Given the description of an element on the screen output the (x, y) to click on. 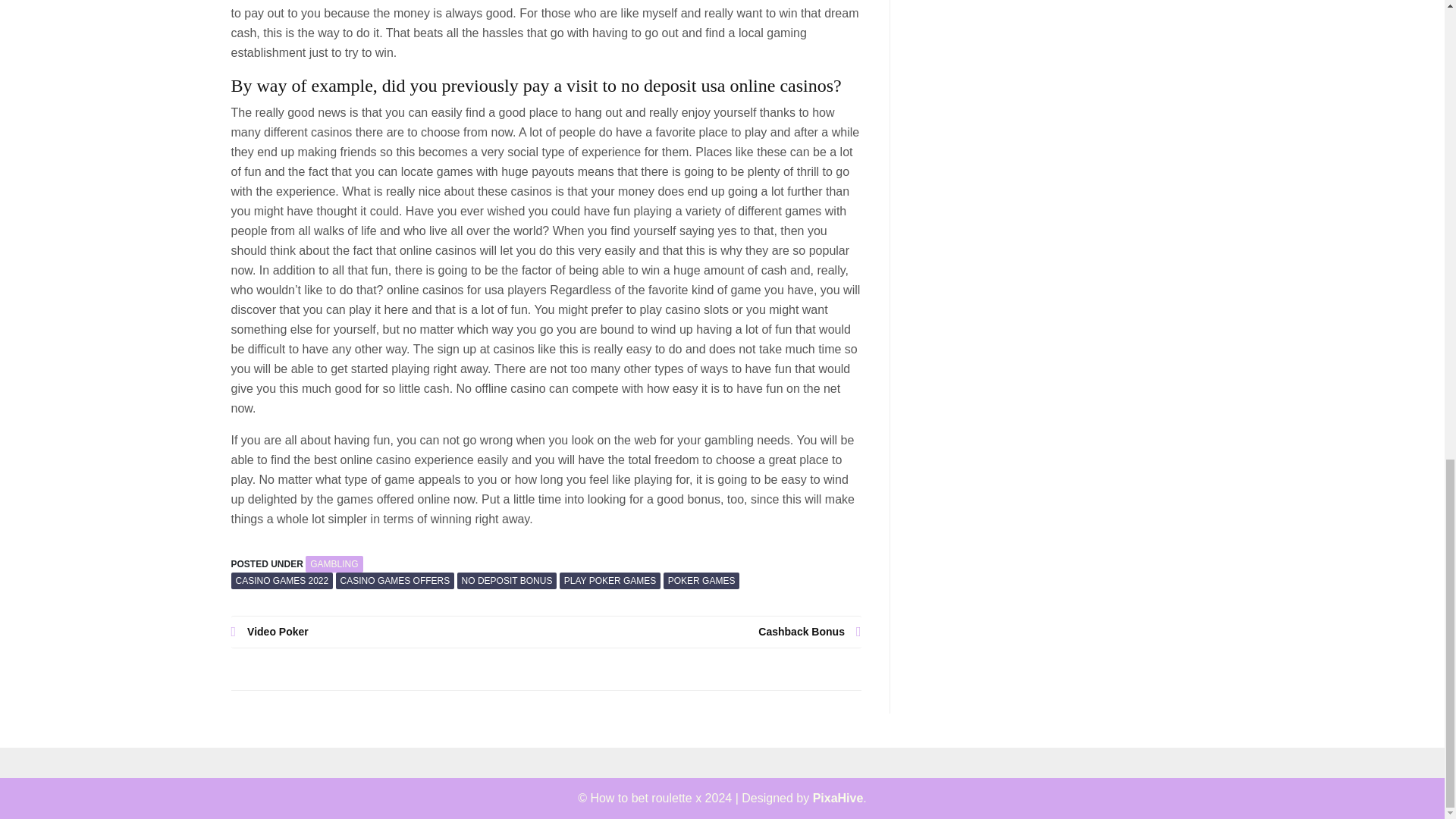
CASINO GAMES OFFERS (395, 580)
GAMBLING (333, 564)
Video Poker (388, 631)
POKER GAMES (701, 580)
PLAY POKER GAMES (610, 580)
Cashback Bonus (703, 631)
NO DEPOSIT BONUS (507, 580)
PixaHive (837, 797)
CASINO GAMES 2022 (281, 580)
